Given the description of an element on the screen output the (x, y) to click on. 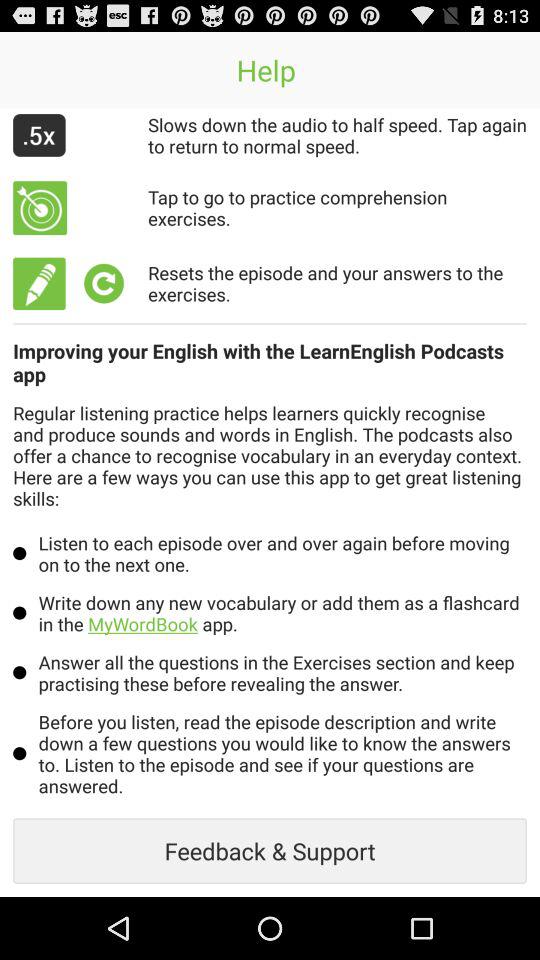
choose the item below before you listen app (269, 850)
